Given the description of an element on the screen output the (x, y) to click on. 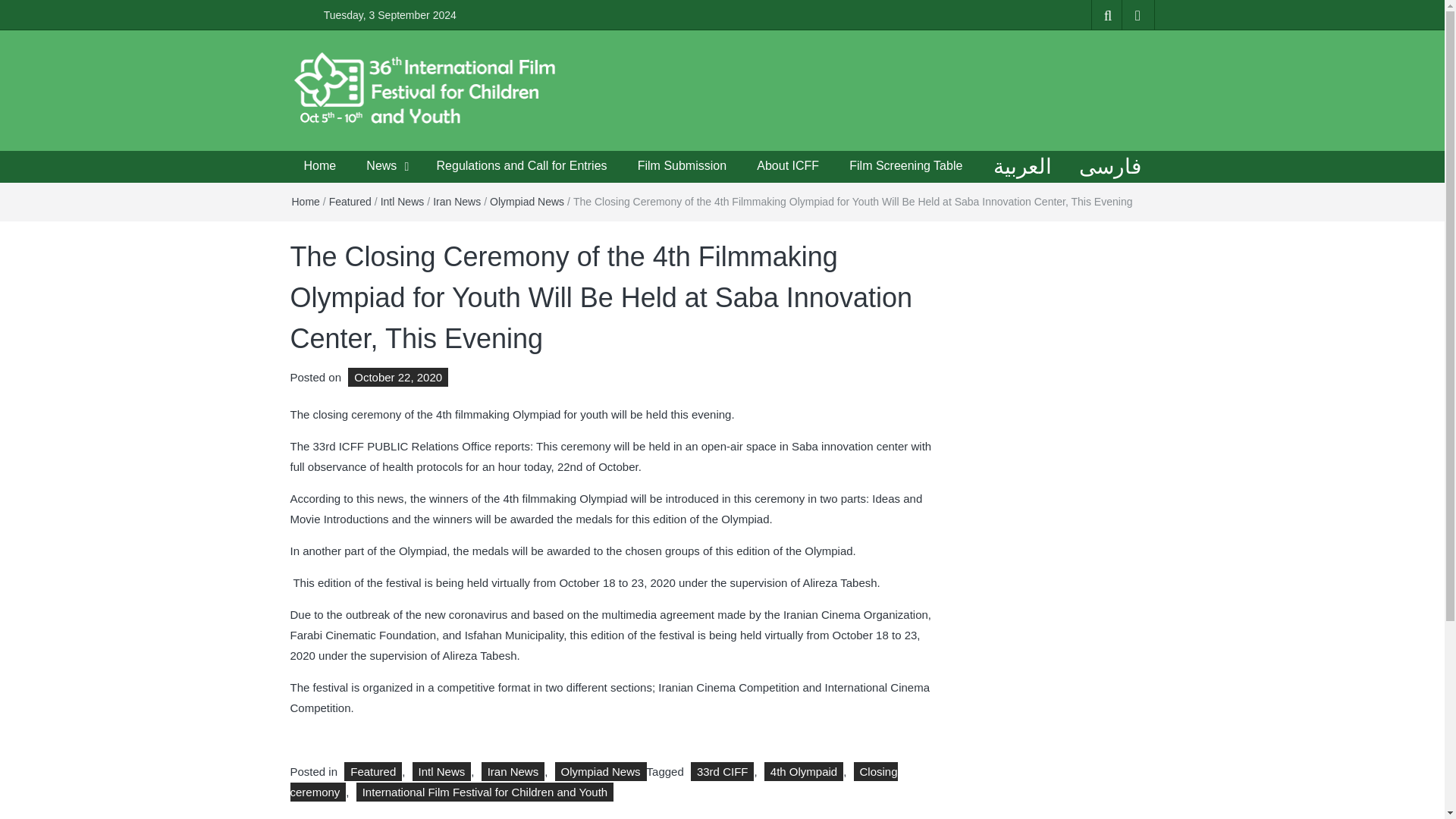
Intl News (441, 771)
Intl News (402, 201)
Olympiad News (600, 771)
News (381, 165)
Iran News (456, 201)
Home (319, 165)
33rd CIFF (722, 771)
Film Submission (681, 165)
International Film Festival for Children and Youth (431, 191)
Home (304, 201)
